Given the description of an element on the screen output the (x, y) to click on. 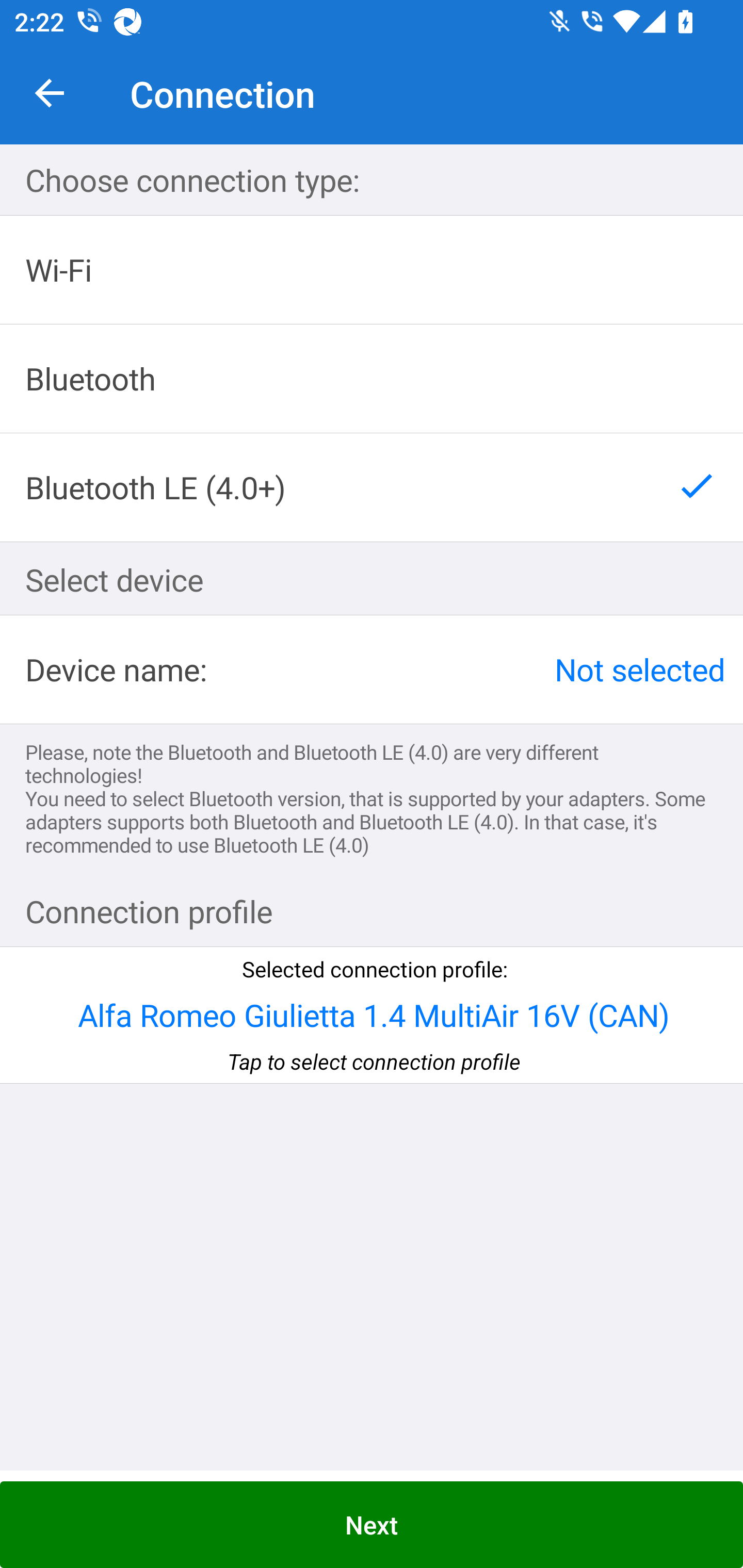
Wi-Fi (371, 270)
Bluetooth (371, 378)
Bluetooth LE (4.0+) (371, 486)
Device name: Not selected (371, 669)
Next (371, 1524)
